Given the description of an element on the screen output the (x, y) to click on. 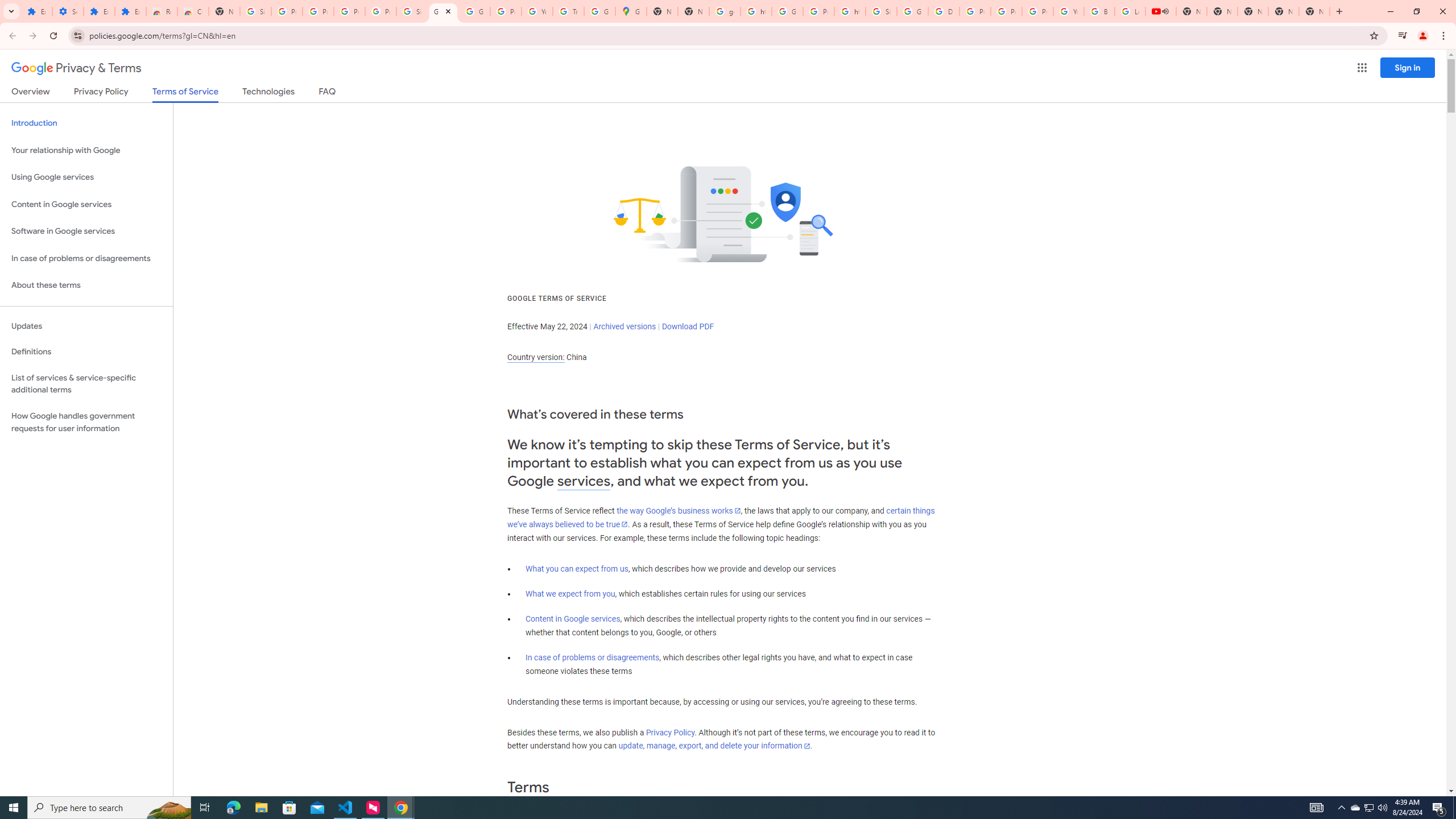
New Tab (223, 11)
What we expect from you (570, 593)
Software in Google services (86, 230)
https://scholar.google.com/ (849, 11)
Extensions (130, 11)
services (583, 480)
